Given the description of an element on the screen output the (x, y) to click on. 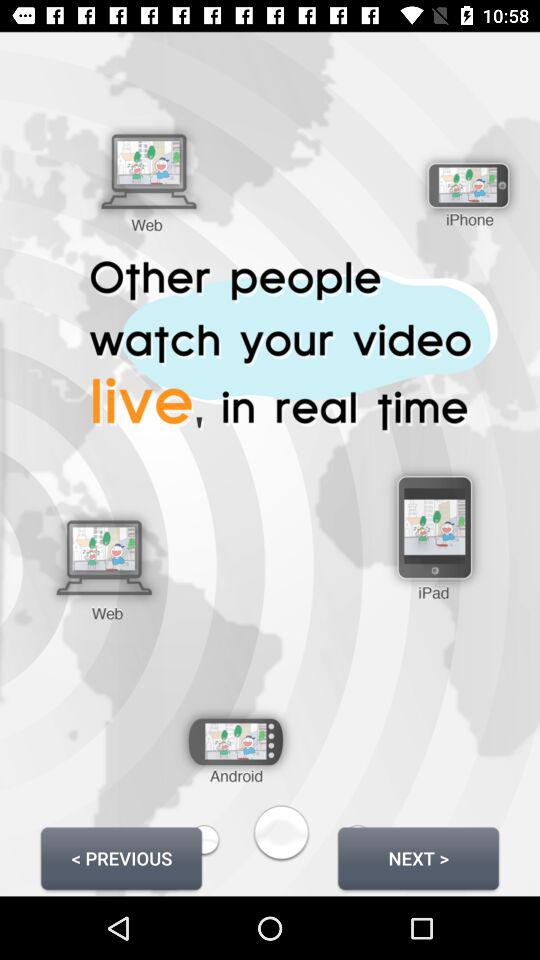
turn off the item at the bottom left corner (121, 858)
